Given the description of an element on the screen output the (x, y) to click on. 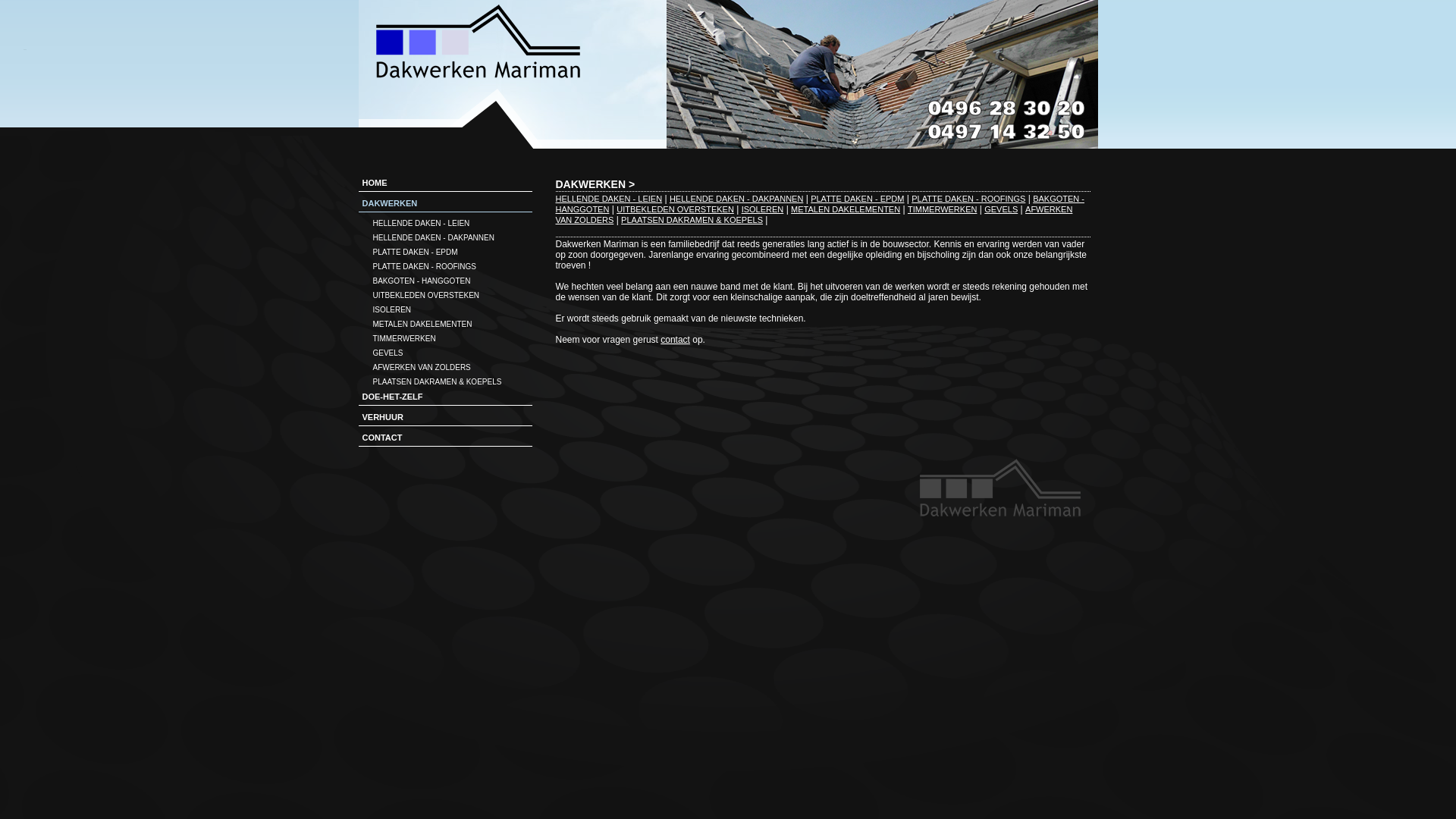
GEVELS Element type: text (1000, 208)
BAKGOTEN - HANGGOTEN Element type: text (442, 279)
AFWERKEN VAN ZOLDERS Element type: text (442, 366)
ISOLEREN Element type: text (442, 308)
AFWERKEN VAN ZOLDERS Element type: text (813, 214)
PLATTE DAKEN - EPDM Element type: text (442, 250)
HELLENDE DAKEN - DAKPANNEN Element type: text (736, 198)
BAKGOTEN - HANGGOTEN Element type: text (819, 203)
TIMMERWERKEN Element type: text (442, 337)
GEVELS Element type: text (442, 351)
DOE-HET-ZELF Element type: text (454, 398)
DAKWERKEN Element type: text (590, 184)
contact Element type: text (675, 339)
HELLENDE DAKEN - LEIEN Element type: text (442, 222)
HOME Element type: text (454, 184)
METALEN DAKELEMENTEN Element type: text (845, 208)
HELLENDE DAKEN - LEIEN Element type: text (608, 198)
UITBEKLEDEN OVERSTEKEN Element type: text (442, 294)
TIMMERWERKEN Element type: text (941, 208)
PLAATSEN DAKRAMEN & KOEPELS Element type: text (442, 380)
VERHUUR Element type: text (454, 418)
PLAATSEN DAKRAMEN & KOEPELS Element type: text (691, 219)
DAKWERKEN Element type: text (454, 204)
PLATTE DAKEN - EPDM Element type: text (856, 198)
HELLENDE DAKEN - DAKPANNEN Element type: text (442, 236)
UITBEKLEDEN OVERSTEKEN Element type: text (675, 208)
PLATTE DAKEN - ROOFINGS Element type: text (442, 265)
METALEN DAKELEMENTEN Element type: text (442, 322)
PLATTE DAKEN - ROOFINGS Element type: text (968, 198)
CONTACT Element type: text (454, 439)
ISOLEREN Element type: text (762, 208)
